Given the description of an element on the screen output the (x, y) to click on. 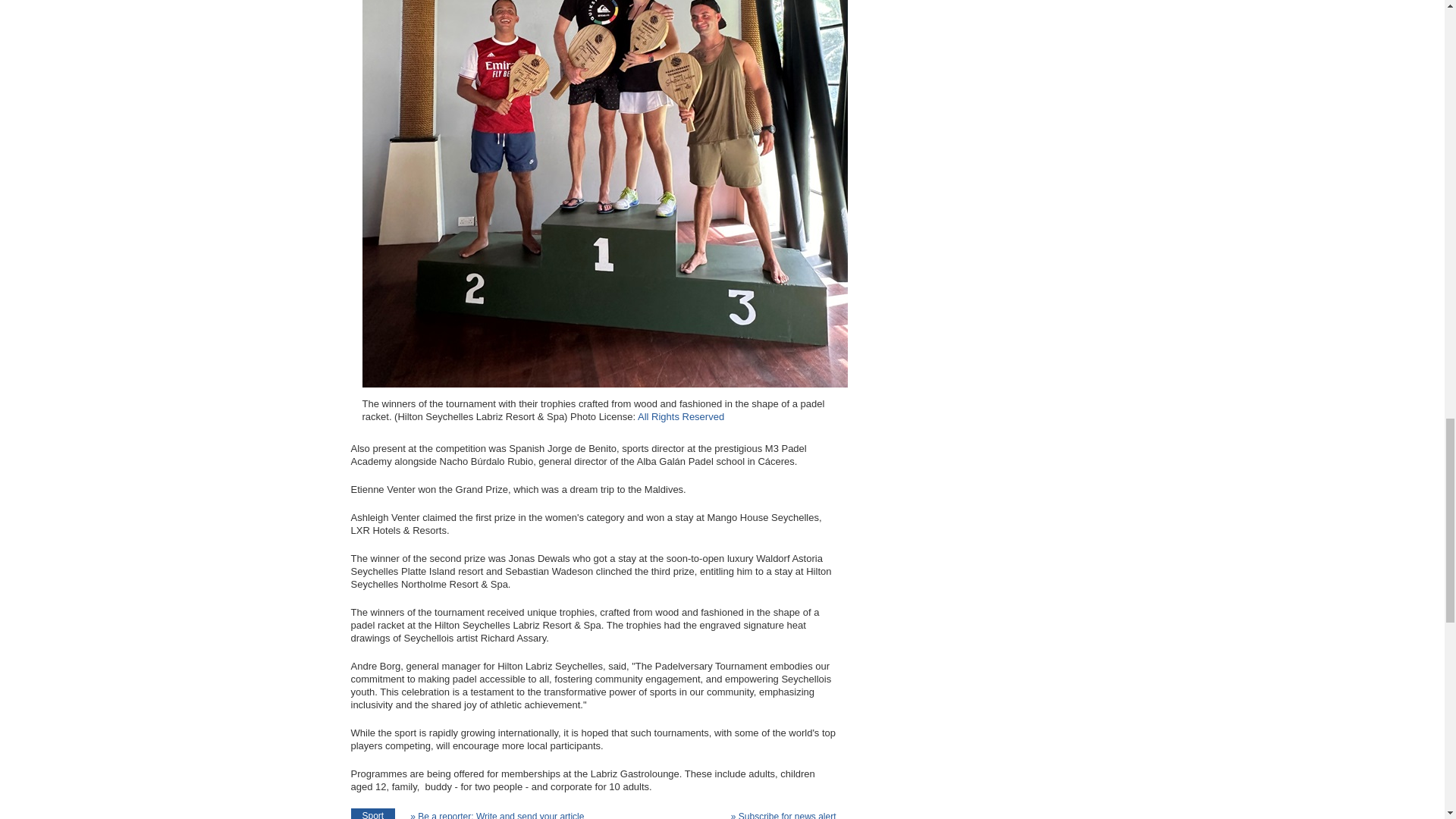
All Rights Reserved (680, 416)
Sport (372, 813)
Subscribe for news alert (782, 813)
